Given the description of an element on the screen output the (x, y) to click on. 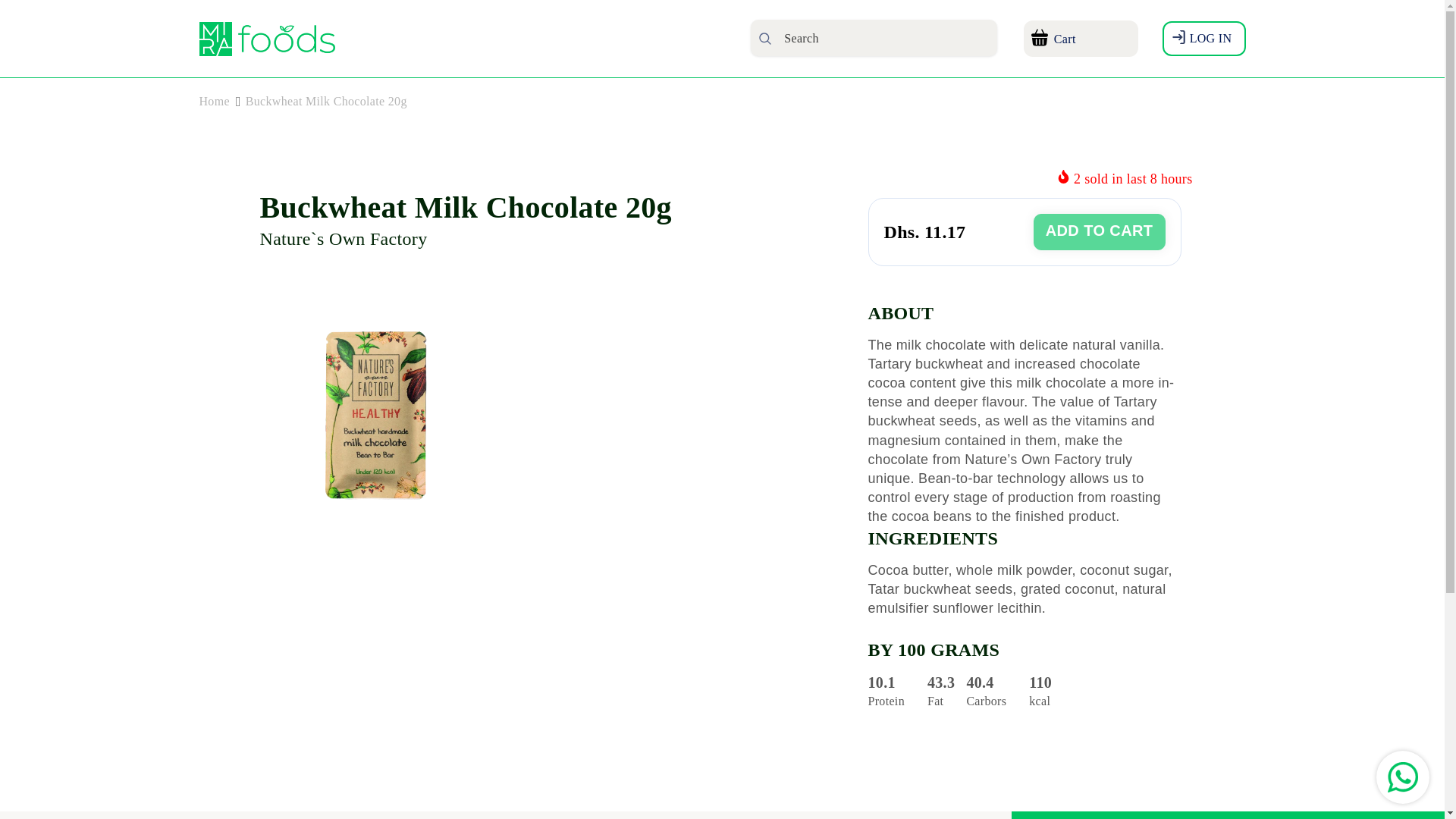
LOG IN (1203, 38)
Cart Icon (1078, 38)
Cart (1078, 38)
Add to Cart (1099, 231)
Logo (268, 36)
